Given the description of an element on the screen output the (x, y) to click on. 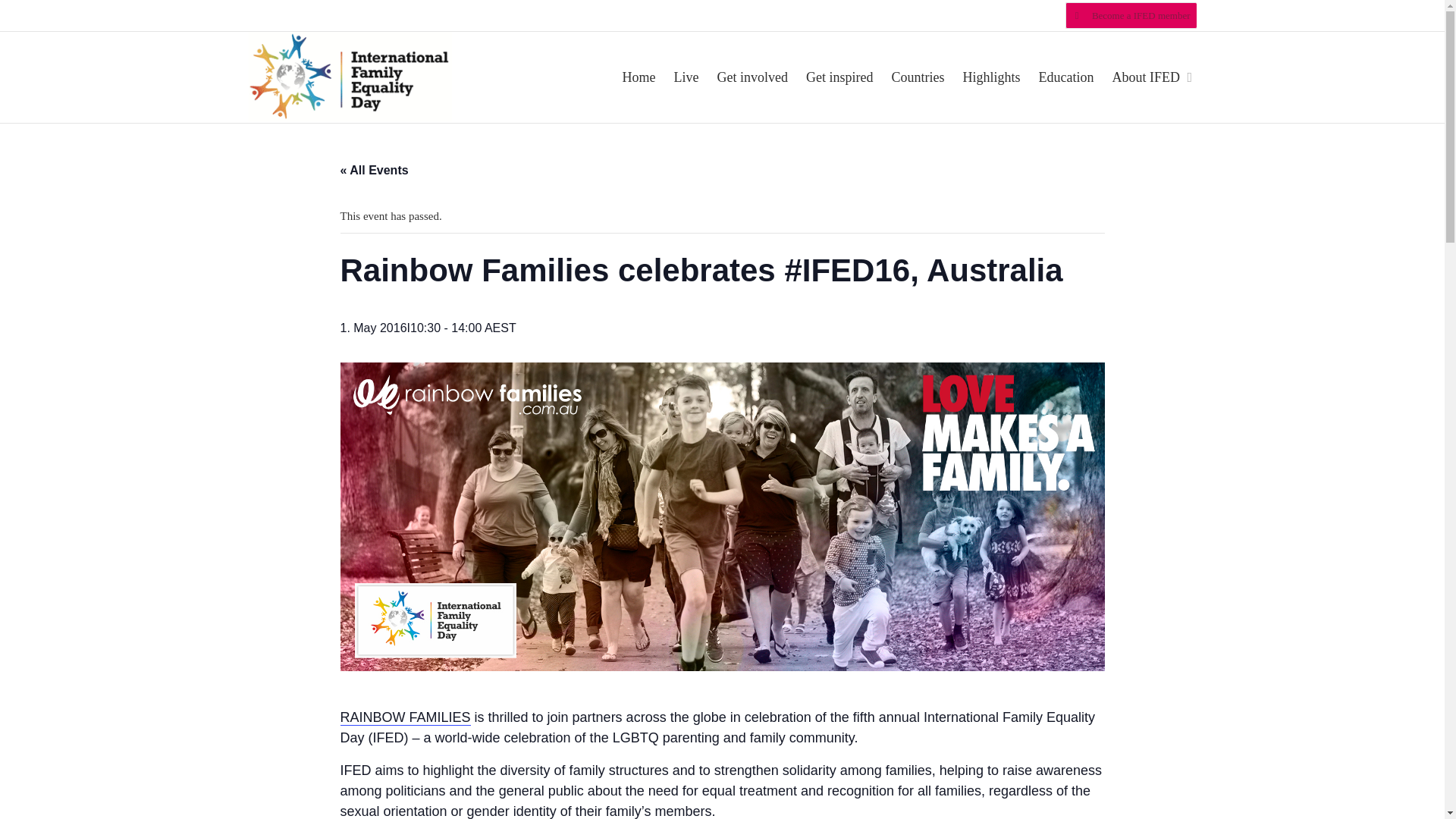
Become a IFED member (1130, 15)
Become a IFED member (1130, 15)
International Family Equality Day (350, 76)
RAINBOW FAMILIES (404, 717)
